Given the description of an element on the screen output the (x, y) to click on. 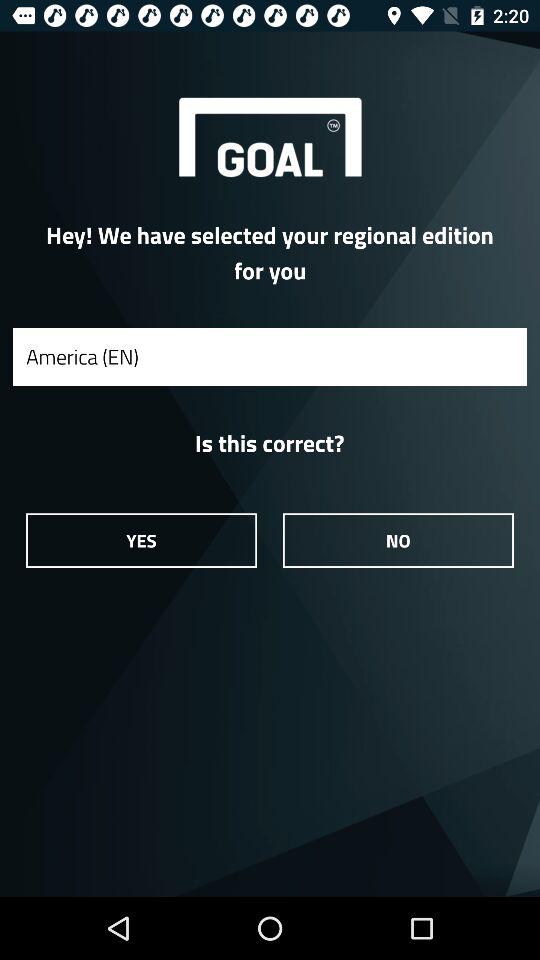
press the hey we have item (269, 252)
